Given the description of an element on the screen output the (x, y) to click on. 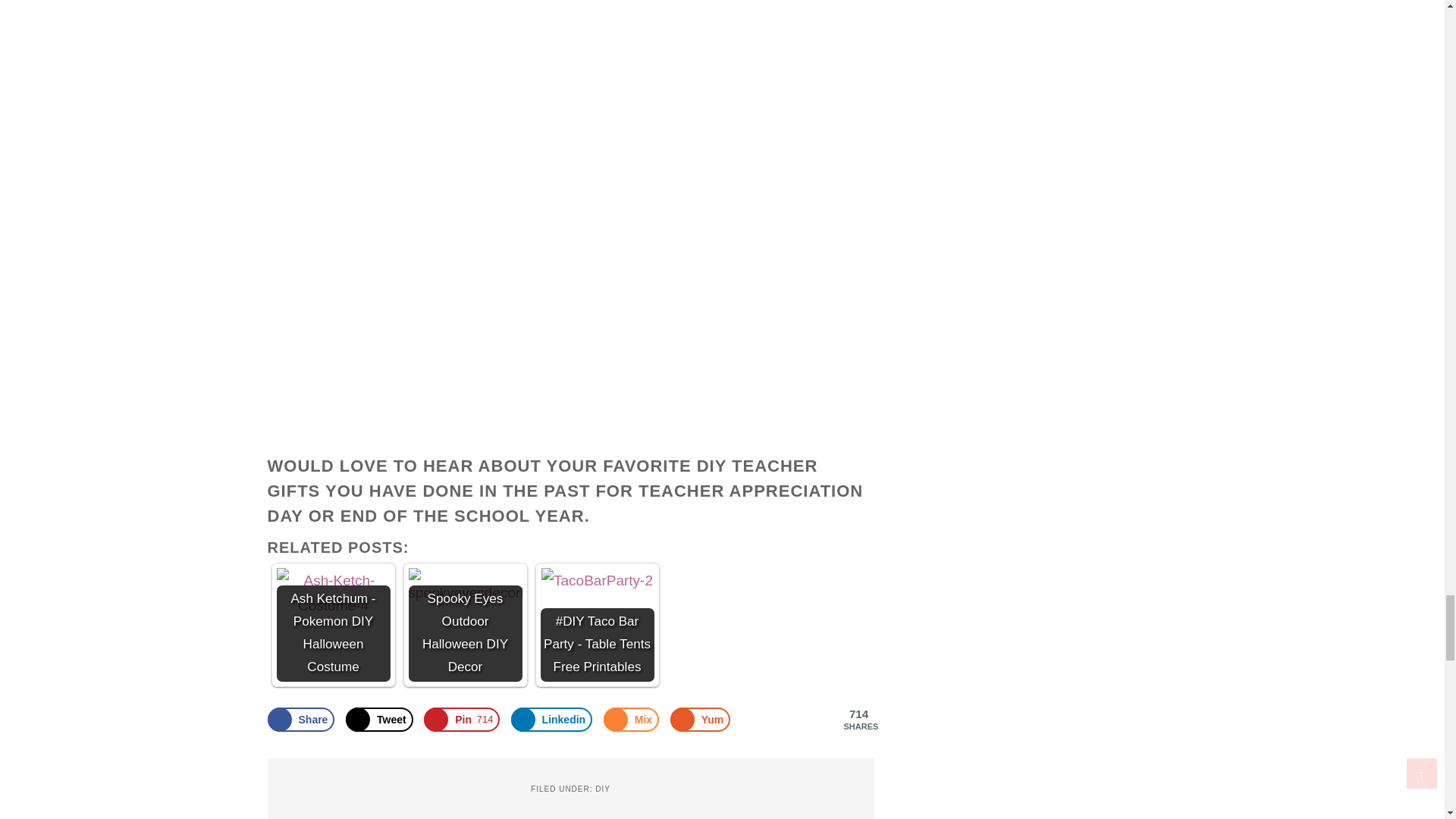
Share on X (379, 719)
Save to Pinterest (461, 719)
Share on Facebook (300, 719)
Ash Ketchum - Pokemon DIY Halloween Costume (333, 593)
Spooky Eyes Outdoor Halloween DIY Decor (464, 586)
Share on LinkedIn (551, 719)
